Given the description of an element on the screen output the (x, y) to click on. 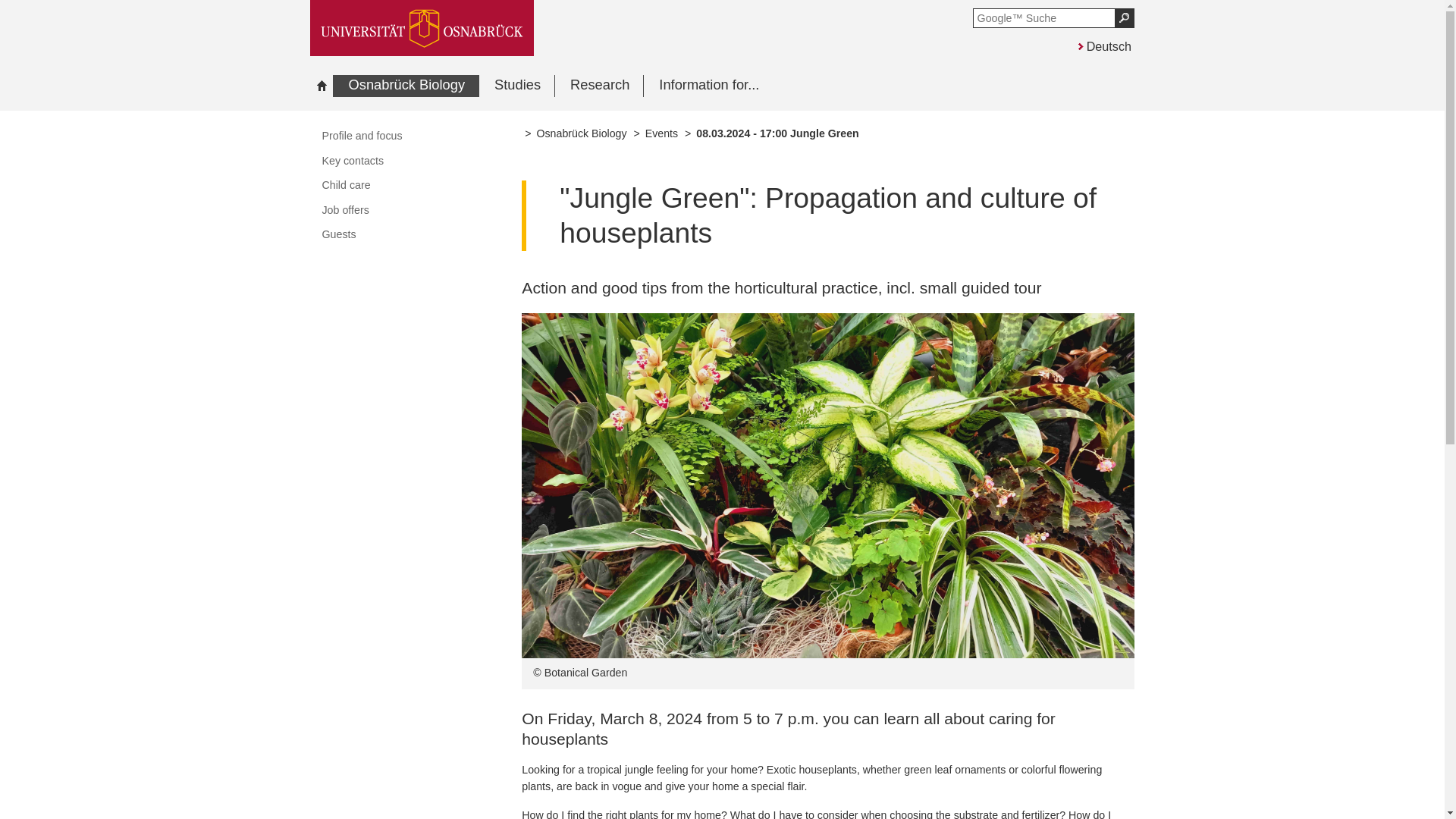
Information for... (708, 86)
Studies (516, 86)
Research (598, 86)
Suche starten (1124, 18)
Deutsch (1103, 45)
